Given the description of an element on the screen output the (x, y) to click on. 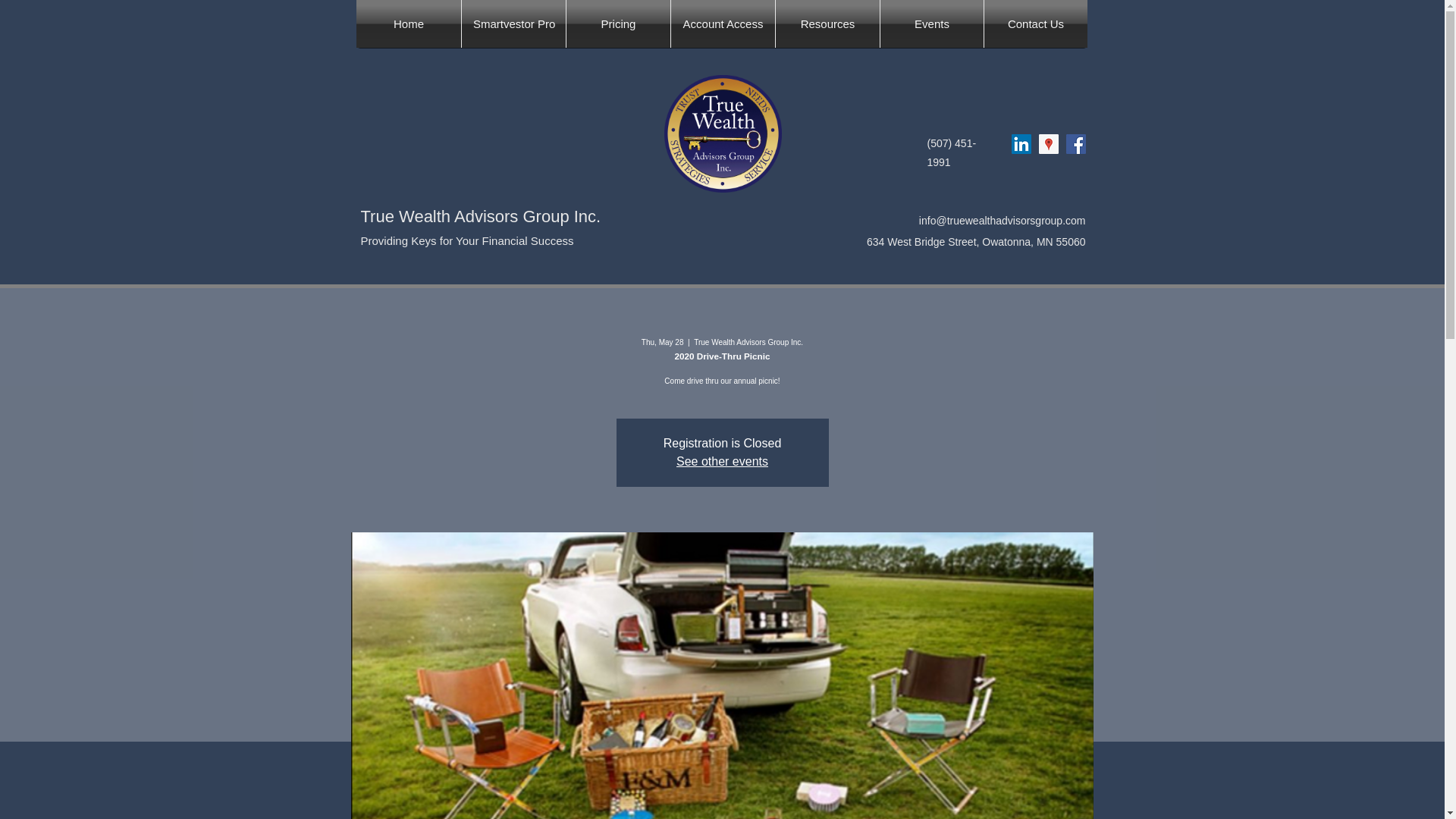
Pricing (617, 23)
True Wealth Advisors Group Inc. (481, 216)
Smartvestor Pro (513, 23)
See other events (722, 461)
Events (932, 23)
Home (408, 23)
Contact Us (1035, 23)
Account Access (722, 23)
